Given the description of an element on the screen output the (x, y) to click on. 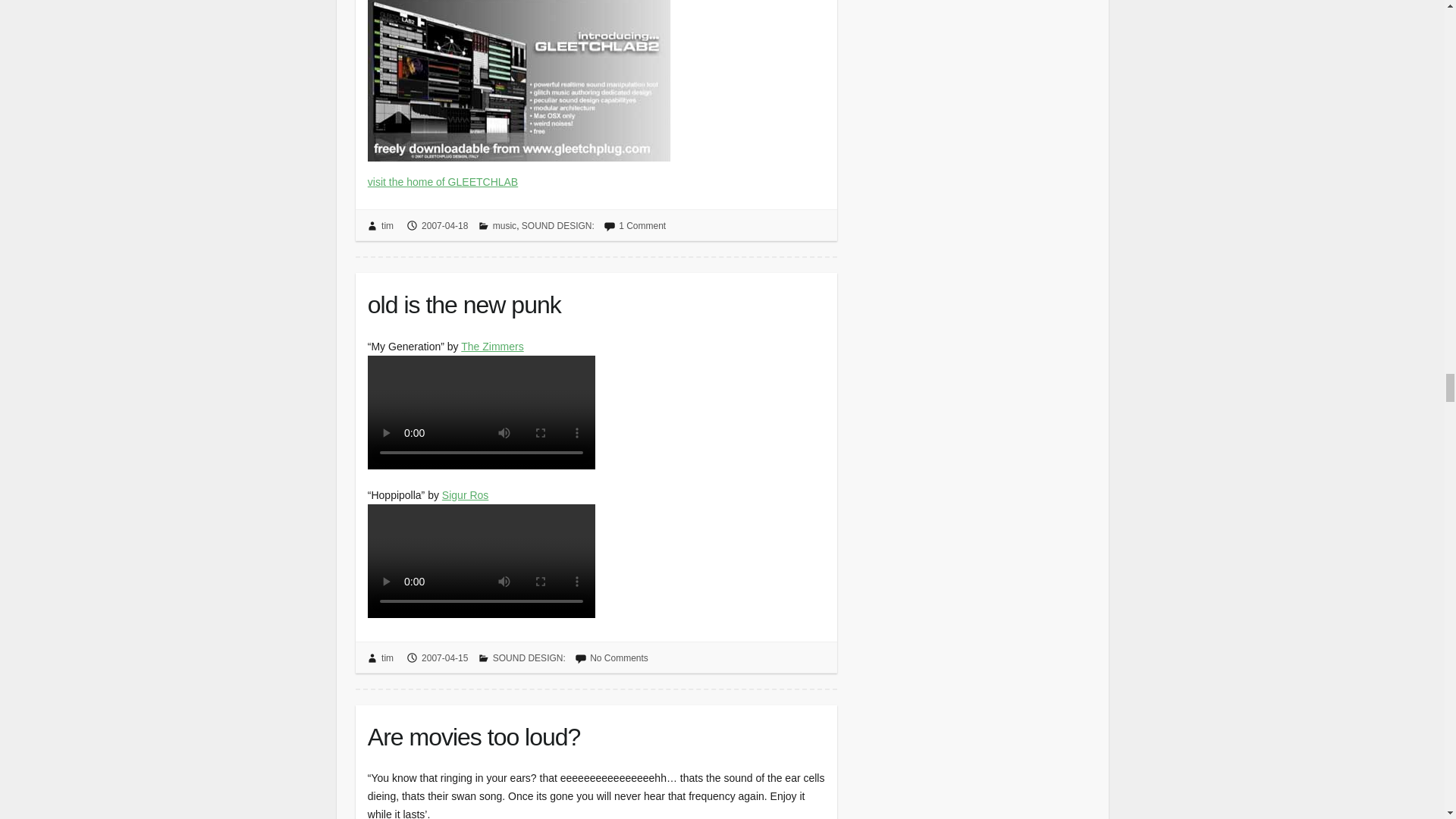
old is the new punk (596, 301)
Are movies too loud? (596, 733)
